Given the description of an element on the screen output the (x, y) to click on. 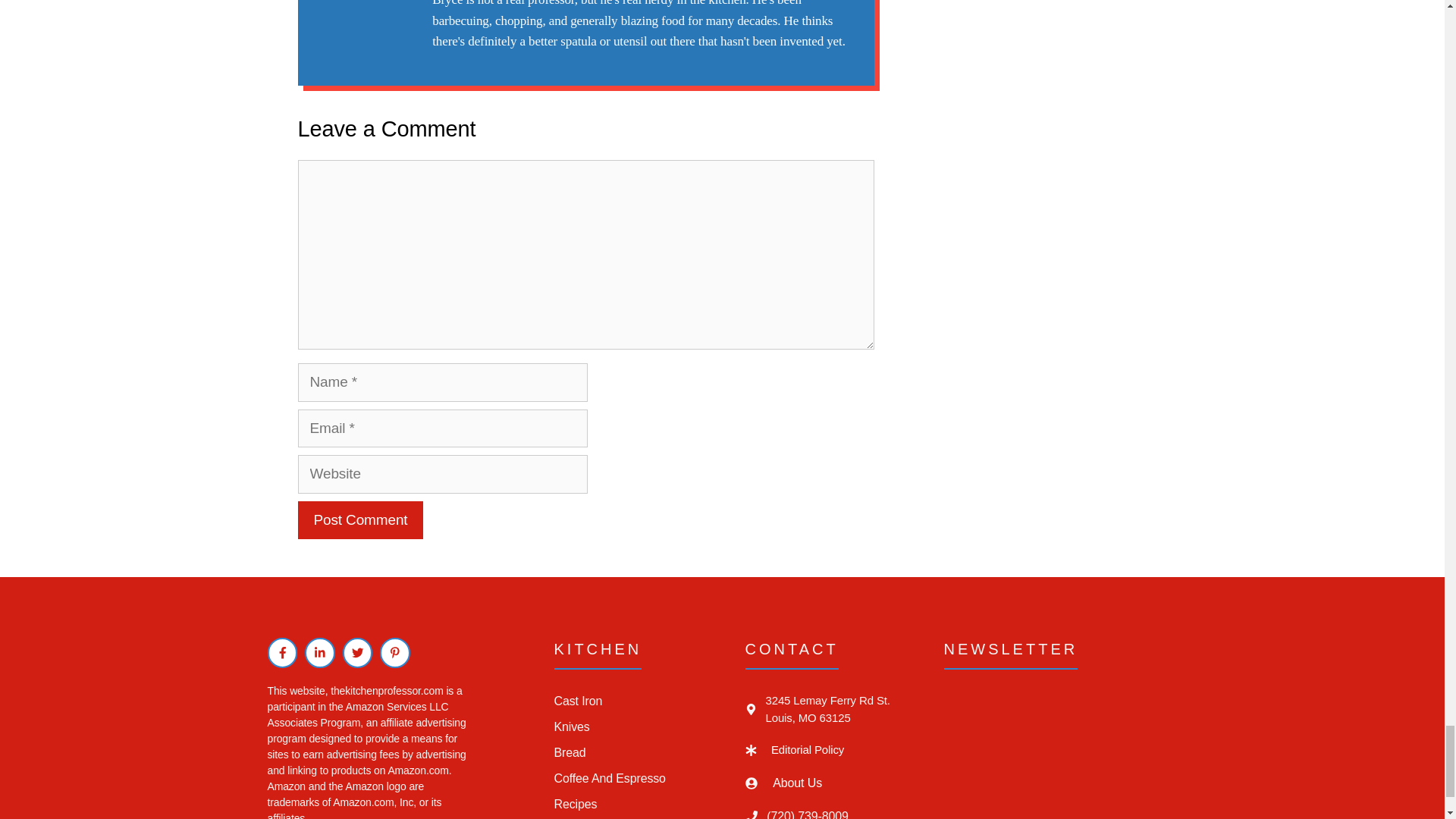
Post Comment (360, 520)
